Given the description of an element on the screen output the (x, y) to click on. 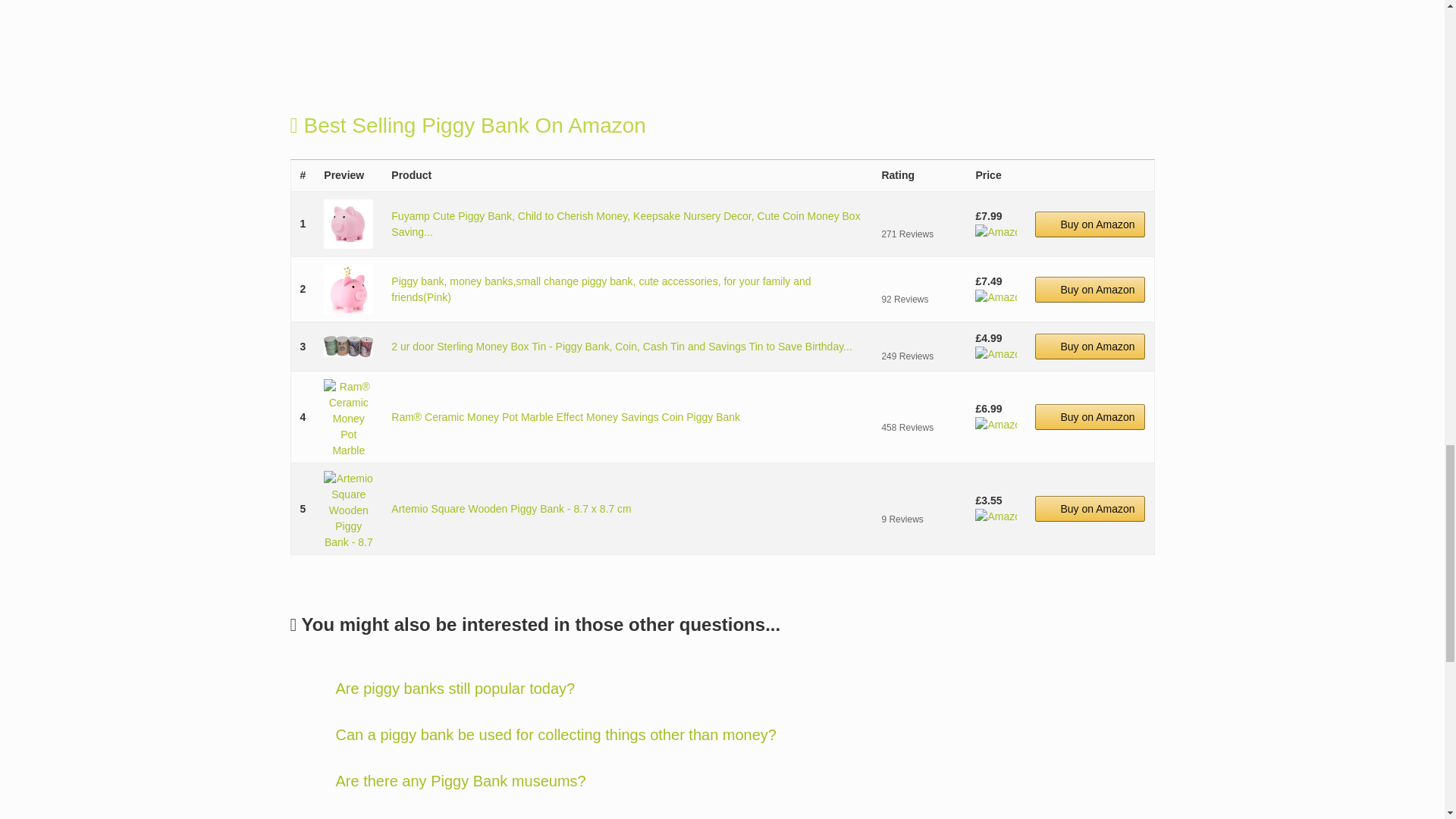
Buy on Amazon (1089, 346)
Reviews on Amazon (918, 215)
Reviews on Amazon (918, 337)
YouTube video player (591, 24)
Reviews on Amazon (918, 281)
Amazon Prime (995, 297)
Buy on Amazon (1089, 289)
Amazon Prime (995, 354)
Buy on Amazon (1089, 224)
Amazon Prime (995, 232)
